Given the description of an element on the screen output the (x, y) to click on. 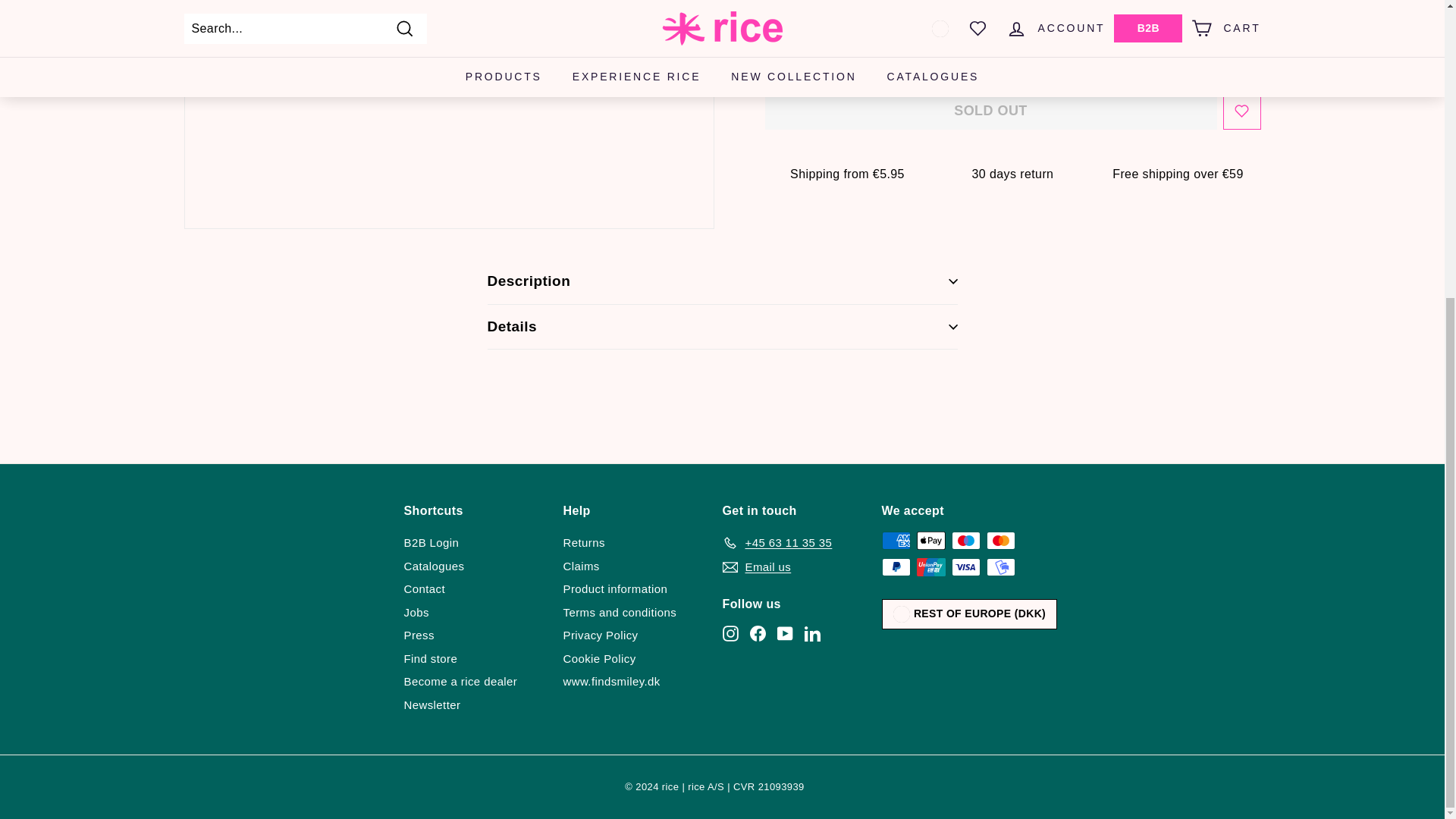
Visa (964, 566)
PayPal (895, 566)
Apple Pay (929, 540)
rice on LinkedIn (811, 633)
American Express (895, 540)
Maestro (964, 540)
rice on YouTube (784, 633)
rice on Facebook (757, 633)
rice on Instagram (730, 633)
Union Pay (929, 566)
